Given the description of an element on the screen output the (x, y) to click on. 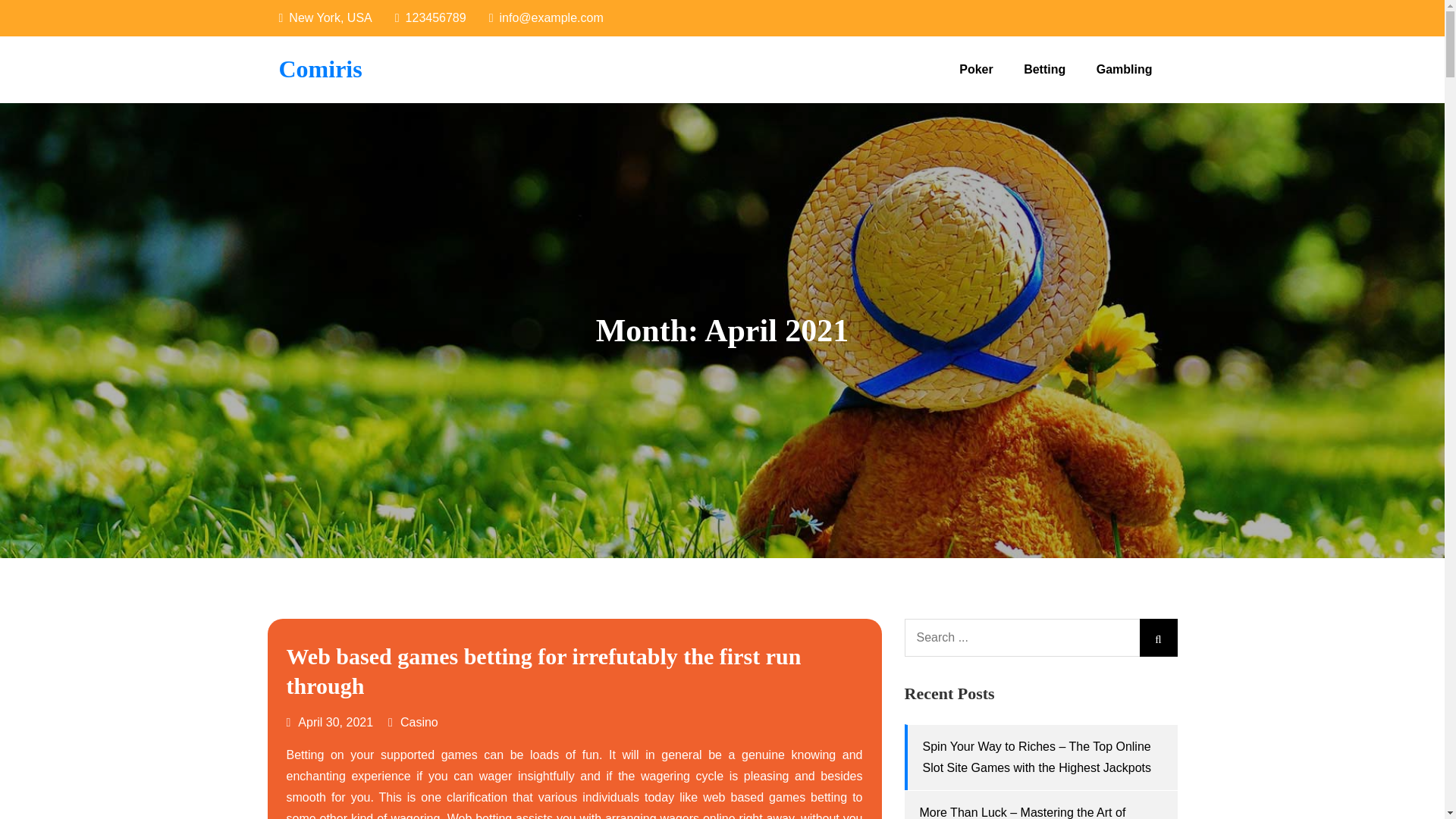
Gambling (1124, 69)
Comiris (320, 68)
April 30, 2021 (330, 721)
Betting (1044, 69)
Poker (975, 69)
Casino (419, 721)
Search for: (1040, 637)
